Given the description of an element on the screen output the (x, y) to click on. 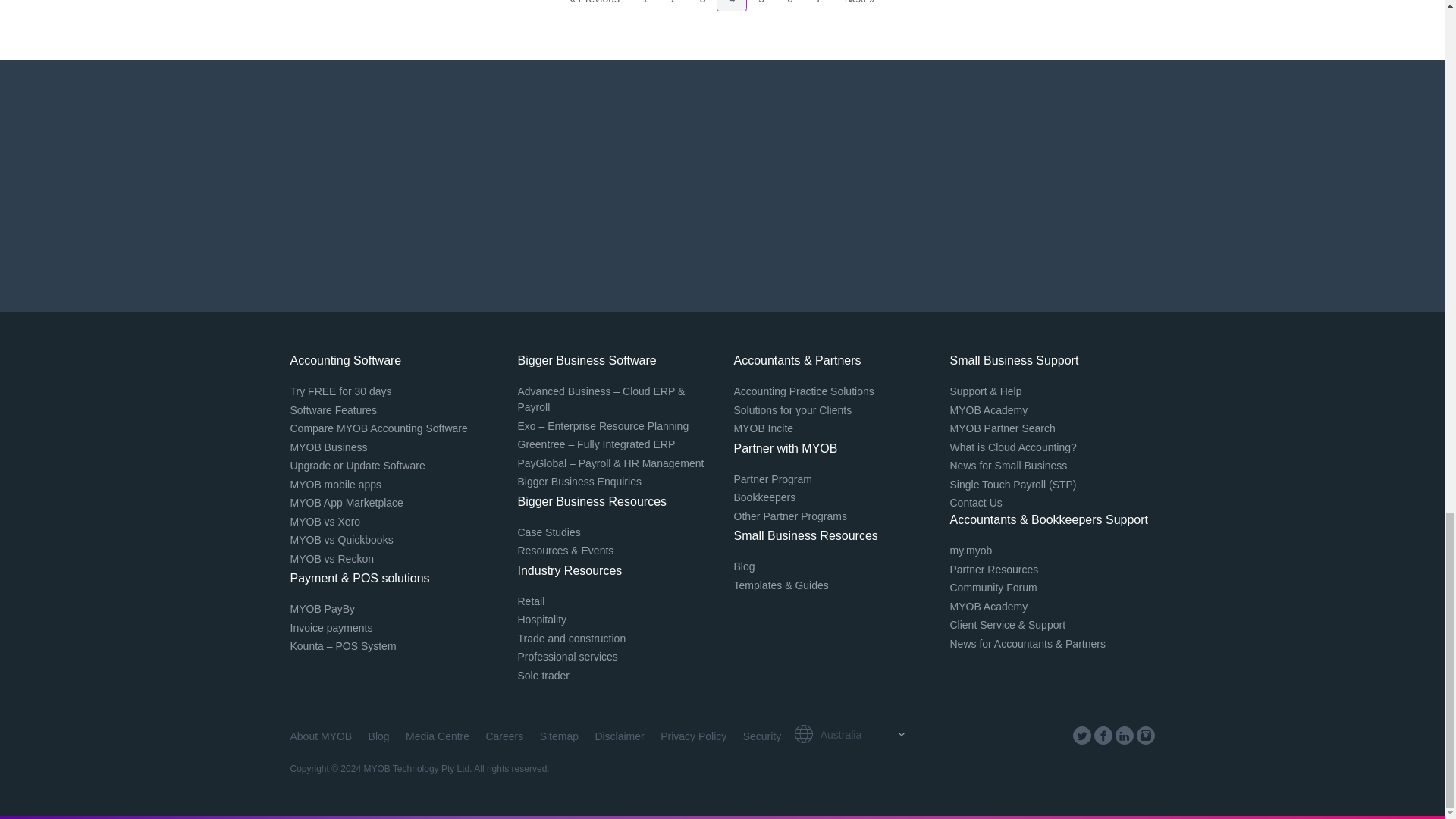
Form 0 (721, 186)
Try FREE for 30 days (790, 5)
Software Features (818, 5)
MYOB mobile apps (340, 390)
Accounting Software (702, 5)
